Given the description of an element on the screen output the (x, y) to click on. 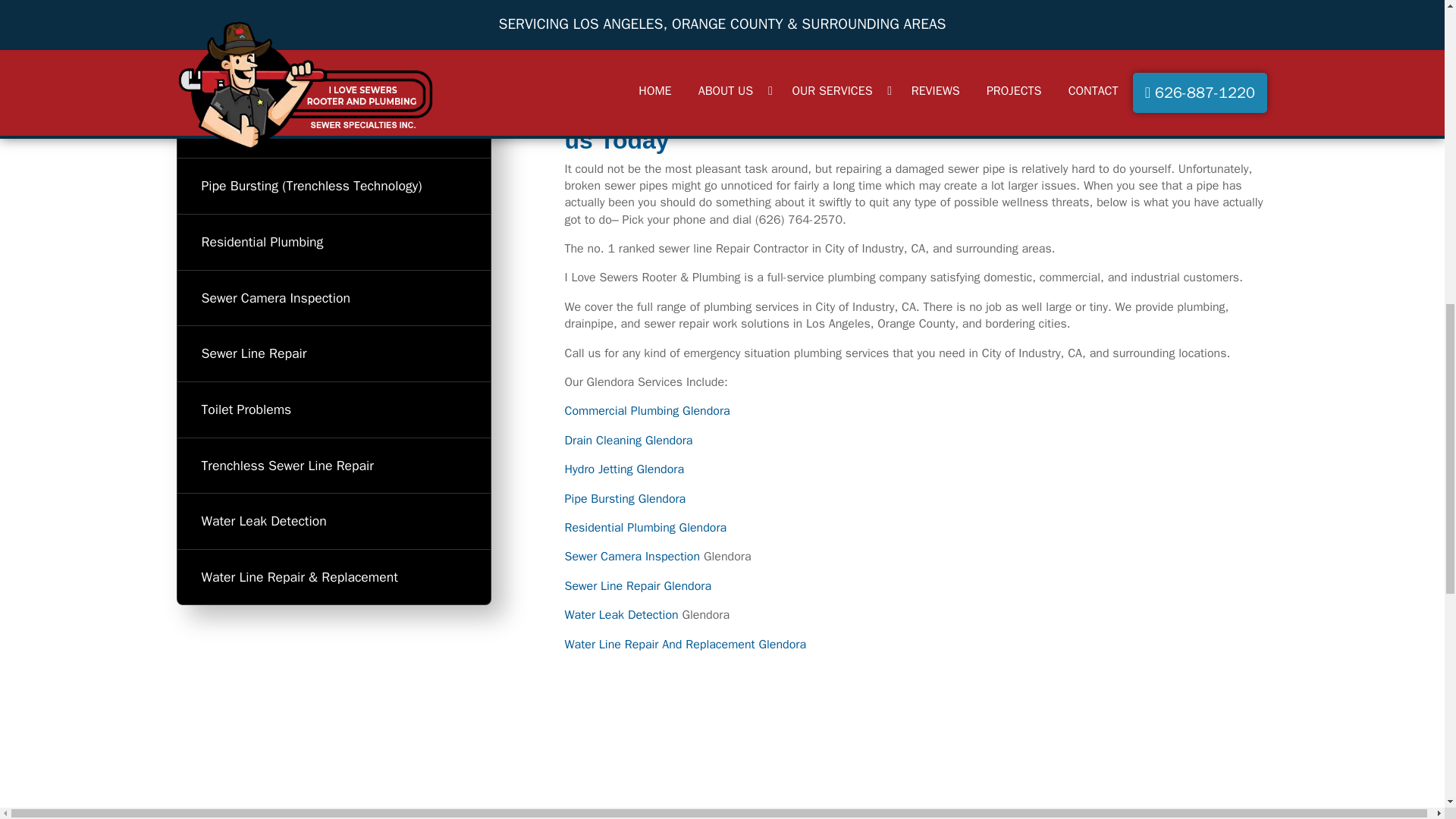
Sewer Camera Inspection (632, 556)
Commercial Plumbing Glendora (646, 410)
Sewer Line Repair Glendora (637, 585)
Drain Cleaning Glendora (628, 440)
Water Line Repair And Replacement Glendora (685, 644)
Hydro Jetting Glendora (624, 468)
Pipe Bursting Glendora (624, 498)
Laundry Drain Cleaning (334, 74)
Residential Plumbing Glendora (645, 527)
